Given the description of an element on the screen output the (x, y) to click on. 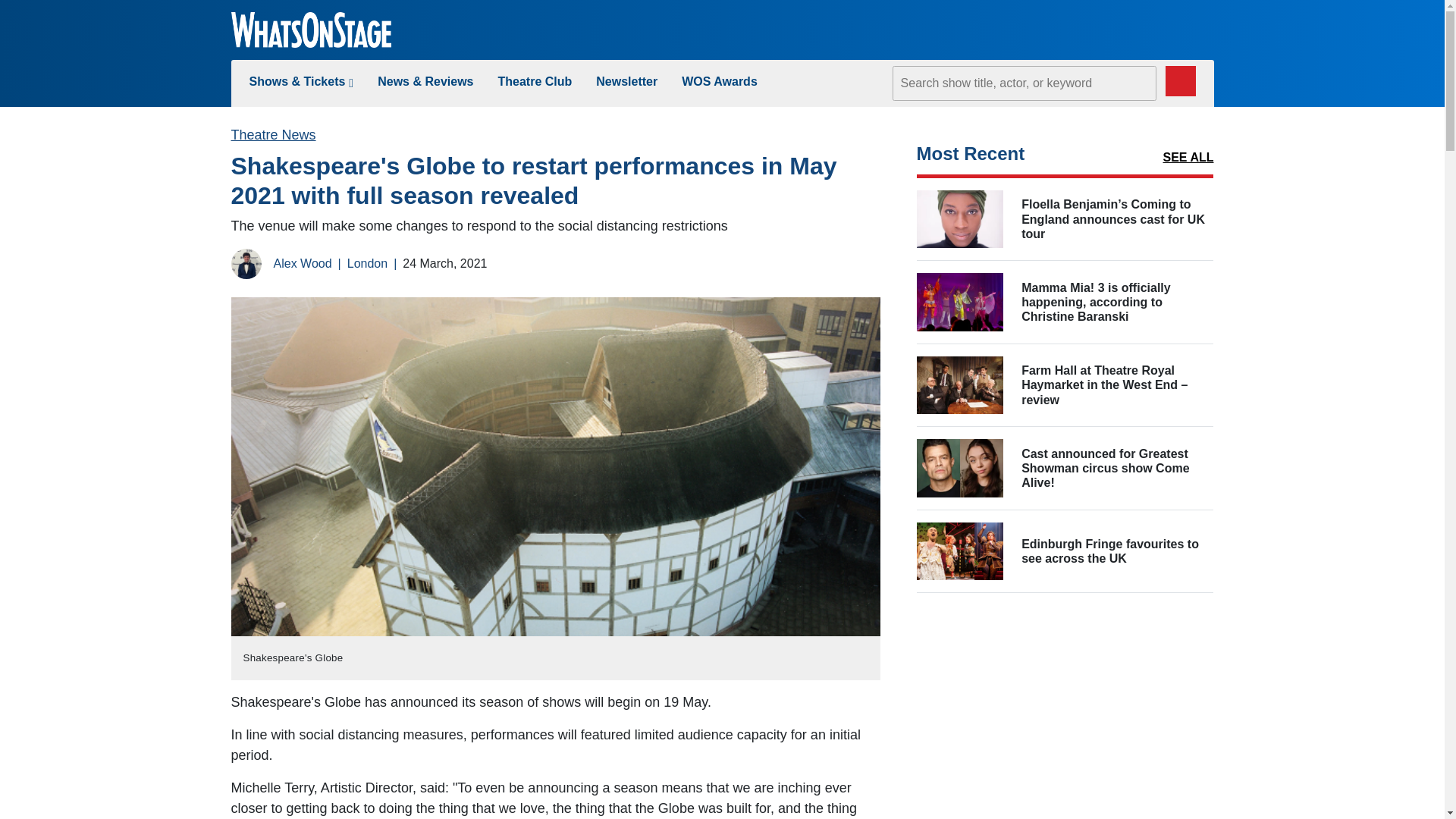
WOS Awards (719, 81)
Newsletter (626, 81)
Theatre Club (534, 81)
new-and-reviews-link (425, 81)
